Given the description of an element on the screen output the (x, y) to click on. 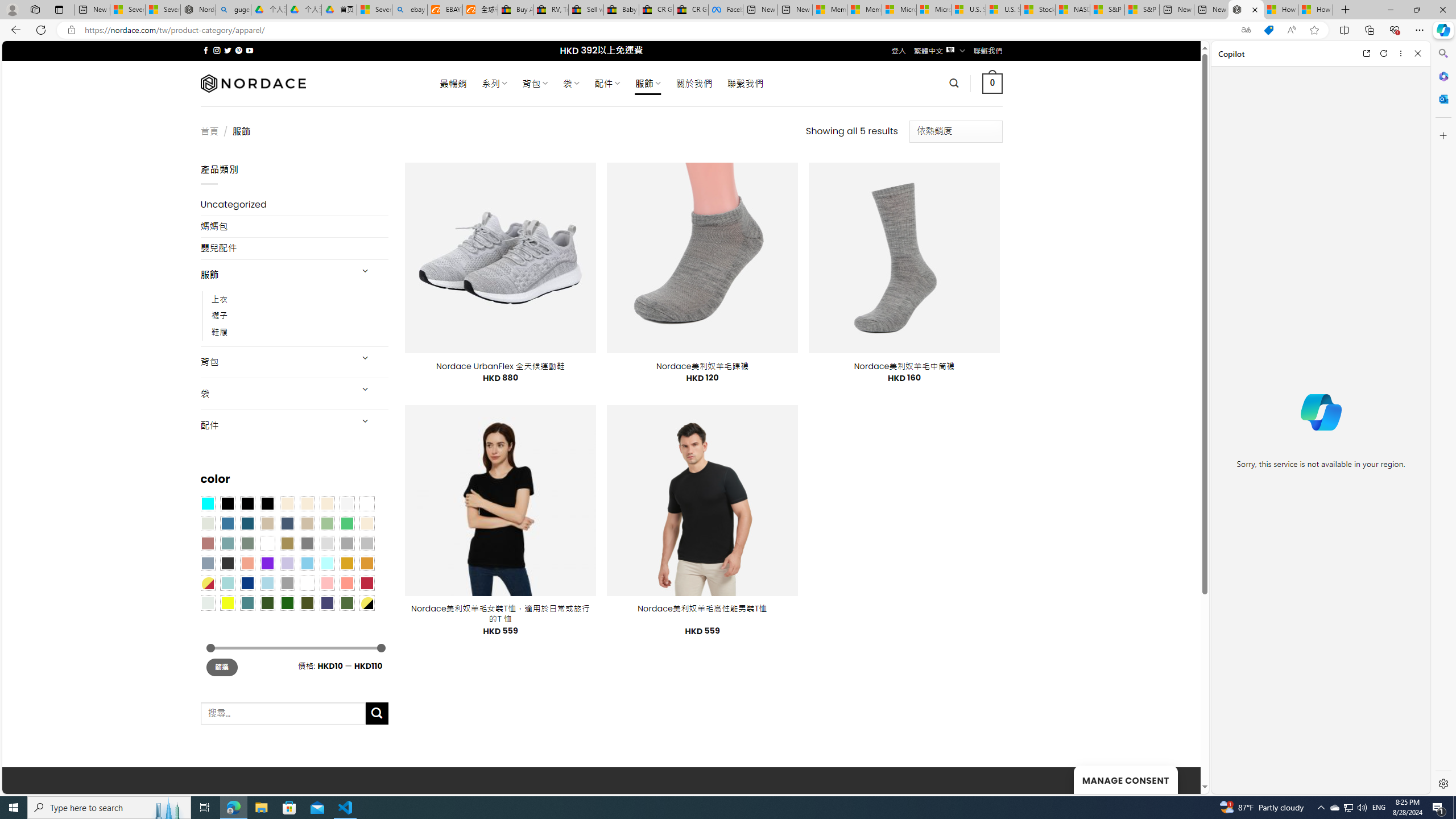
This site has coupons! Shopping in Microsoft Edge (1268, 29)
Open link in new tab (1366, 53)
S&P 500, Nasdaq end lower, weighed by Nvidia dip | Watch (1141, 9)
